Given the description of an element on the screen output the (x, y) to click on. 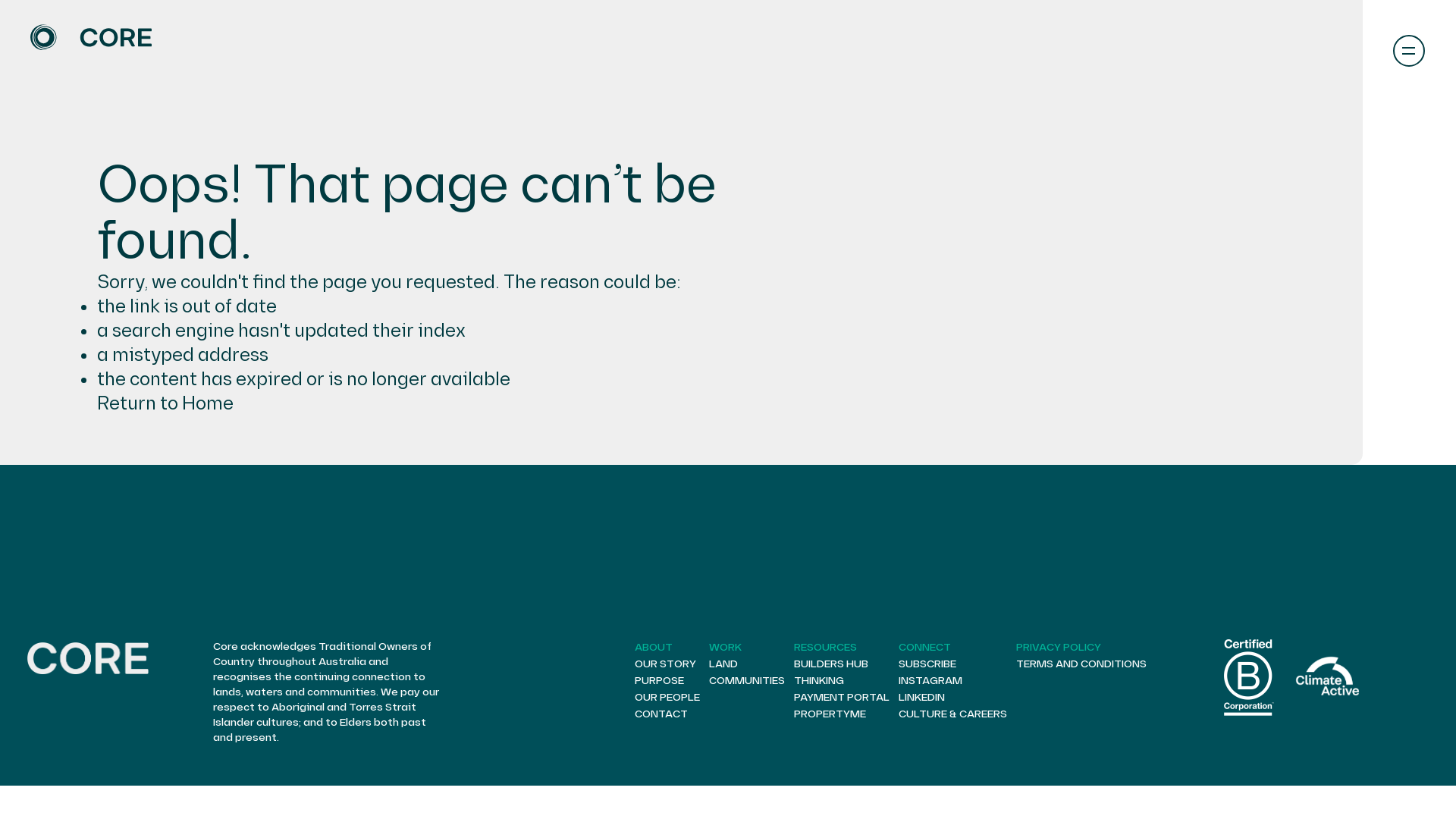
PRIVACY POLICY Element type: text (1058, 646)
RESOURCES Element type: text (824, 646)
LINKEDIN Element type: text (921, 696)
BUILDERS HUB Element type: text (830, 663)
COMMUNITIES Element type: text (746, 680)
PURPOSE Element type: text (659, 680)
INSTAGRAM Element type: text (930, 680)
TERMS AND CONDITIONS Element type: text (1081, 663)
PAYMENT PORTAL Element type: text (841, 696)
CULTURE & CAREERS Element type: text (952, 713)
ABOUT Element type: text (653, 646)
CONNECT Element type: text (924, 646)
CONTACT Element type: text (660, 713)
LAND Element type: text (723, 663)
Skip to content Element type: text (0, 0)
Return to Home Element type: text (165, 403)
THINKING Element type: text (818, 680)
PROPERTYME Element type: text (829, 713)
WORK Element type: text (725, 646)
OUR PEOPLE Element type: text (666, 696)
SUBSCRIBE Element type: text (927, 663)
OUR STORY Element type: text (665, 663)
